Given the description of an element on the screen output the (x, y) to click on. 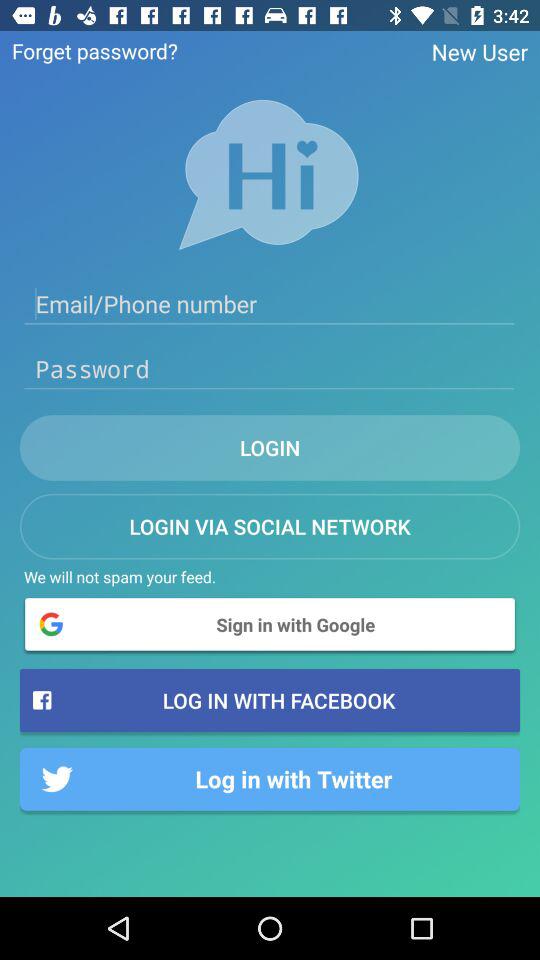
go to enter password box (269, 369)
